Given the description of an element on the screen output the (x, y) to click on. 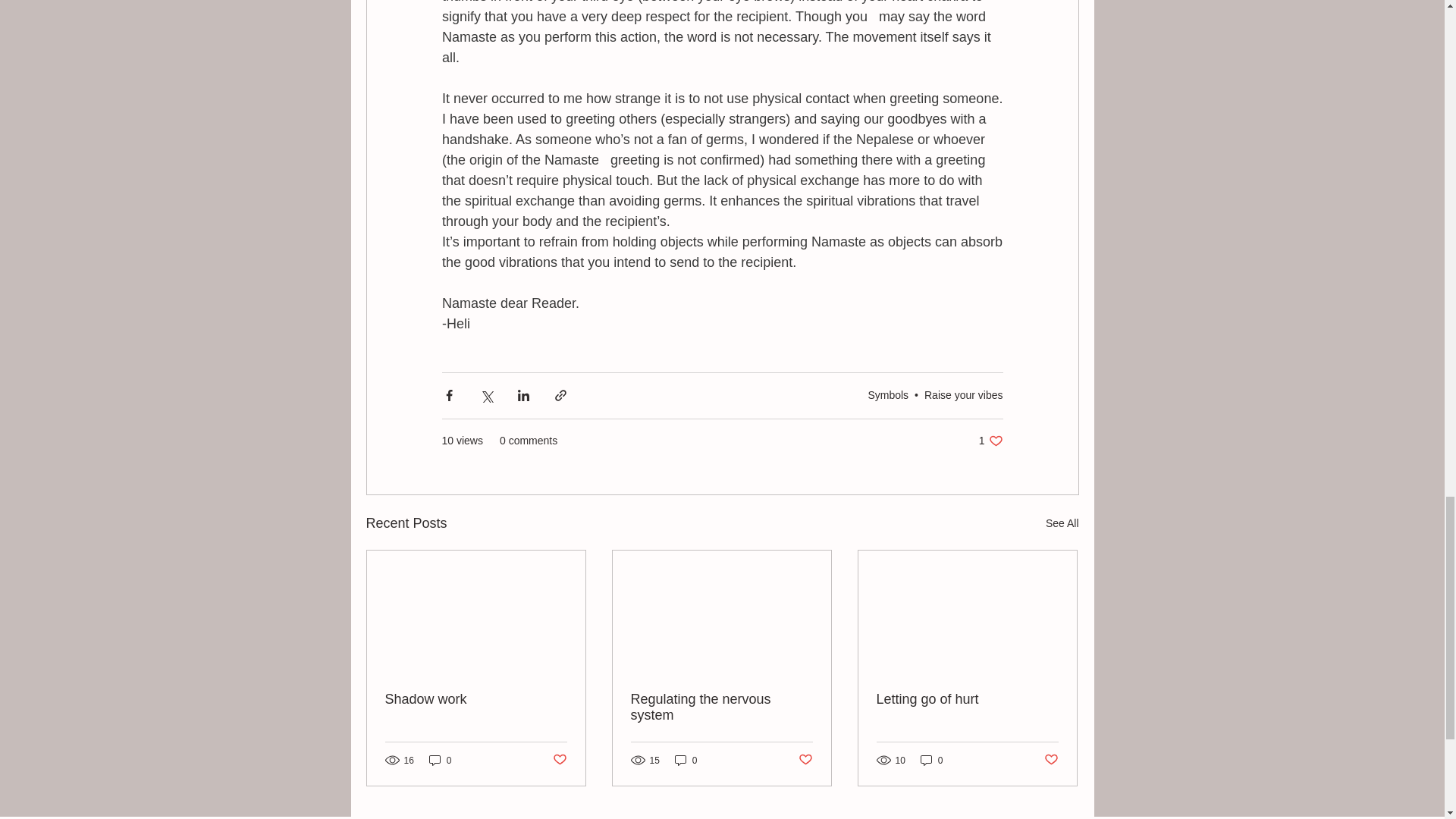
0 (685, 759)
Post not marked as liked (558, 760)
Regulating the nervous system (721, 707)
Shadow work (476, 699)
Symbols (887, 395)
See All (1061, 523)
Post not marked as liked (804, 760)
Raise your vibes (963, 395)
0 (440, 759)
